Given the description of an element on the screen output the (x, y) to click on. 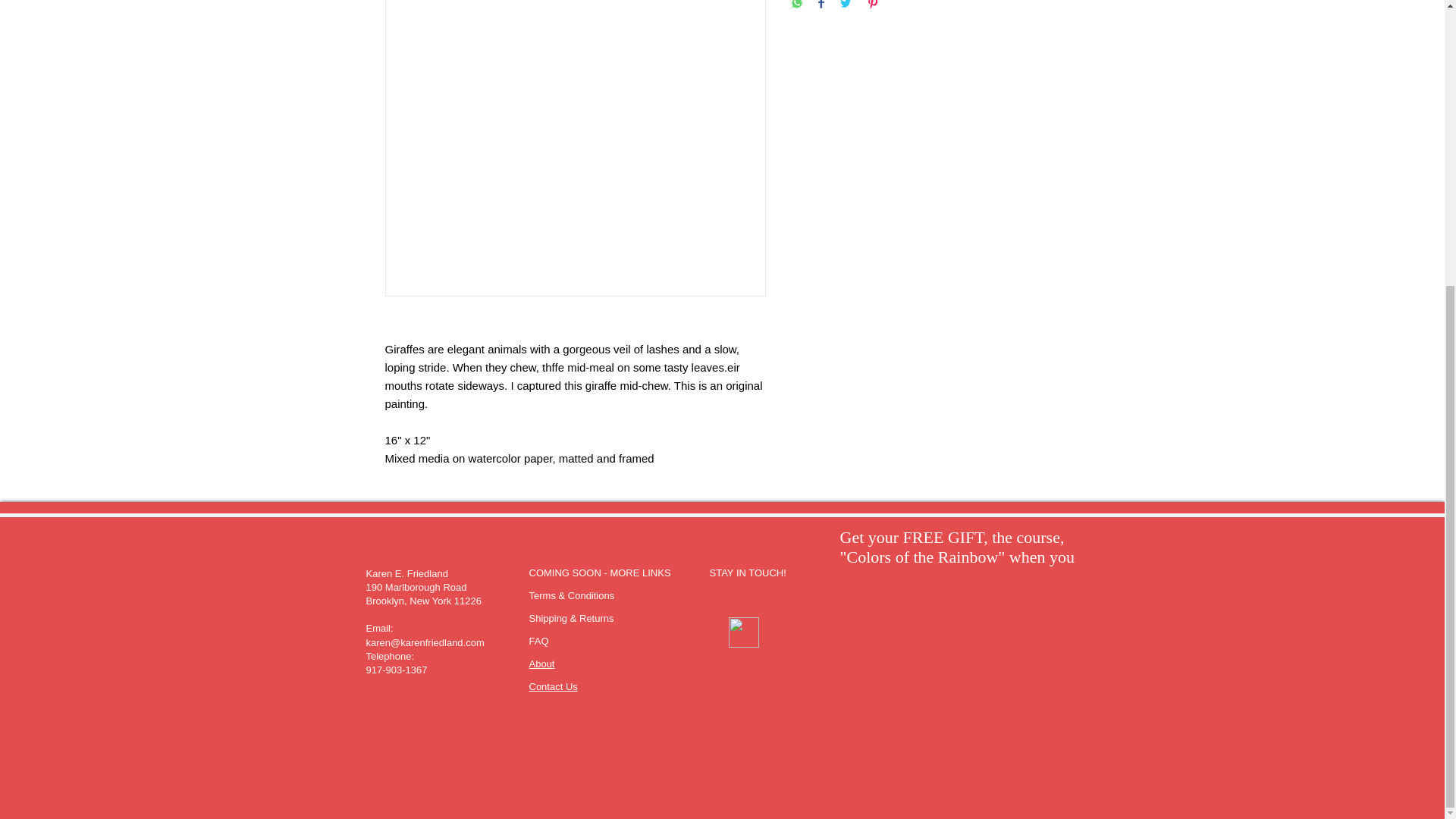
Contact Us (553, 686)
About (541, 663)
